Given the description of an element on the screen output the (x, y) to click on. 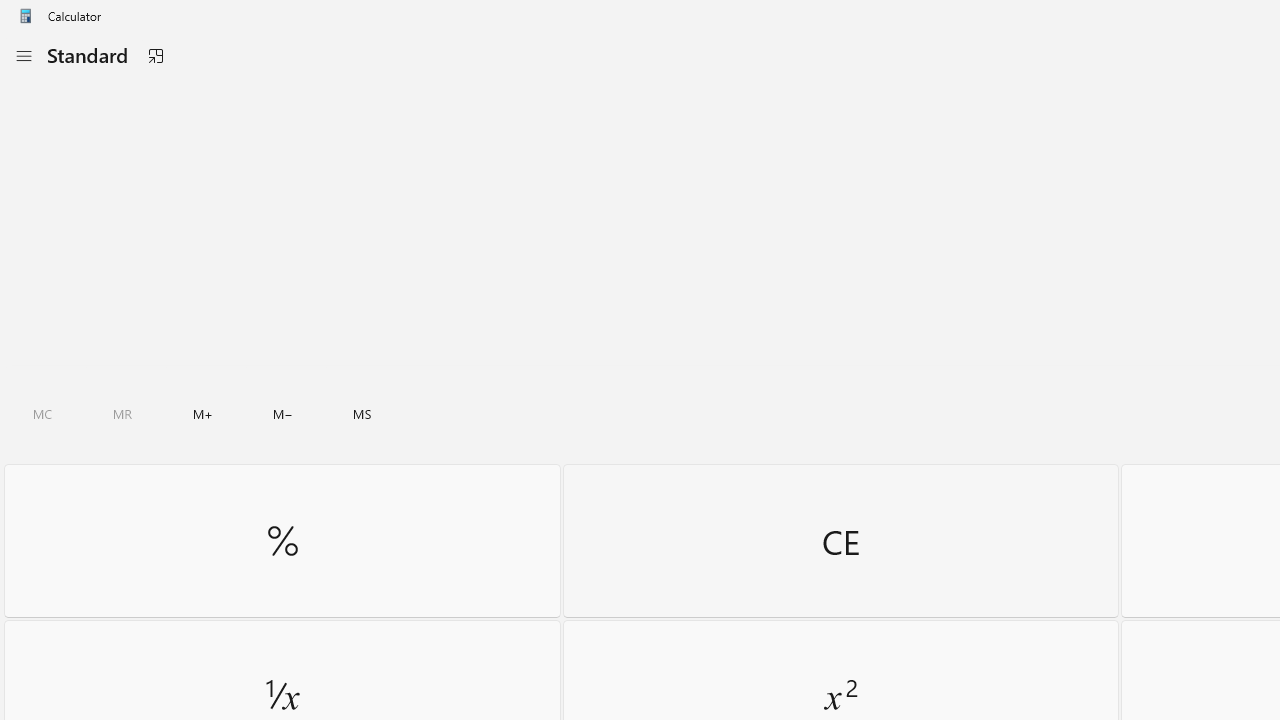
Open Navigation (23, 56)
Memory store (362, 414)
Percent (281, 540)
Clear entry (840, 540)
Clear all memory (42, 414)
Memory add (202, 414)
Memory subtract (283, 414)
Keep on top (155, 56)
Memory recall (123, 414)
